Given the description of an element on the screen output the (x, y) to click on. 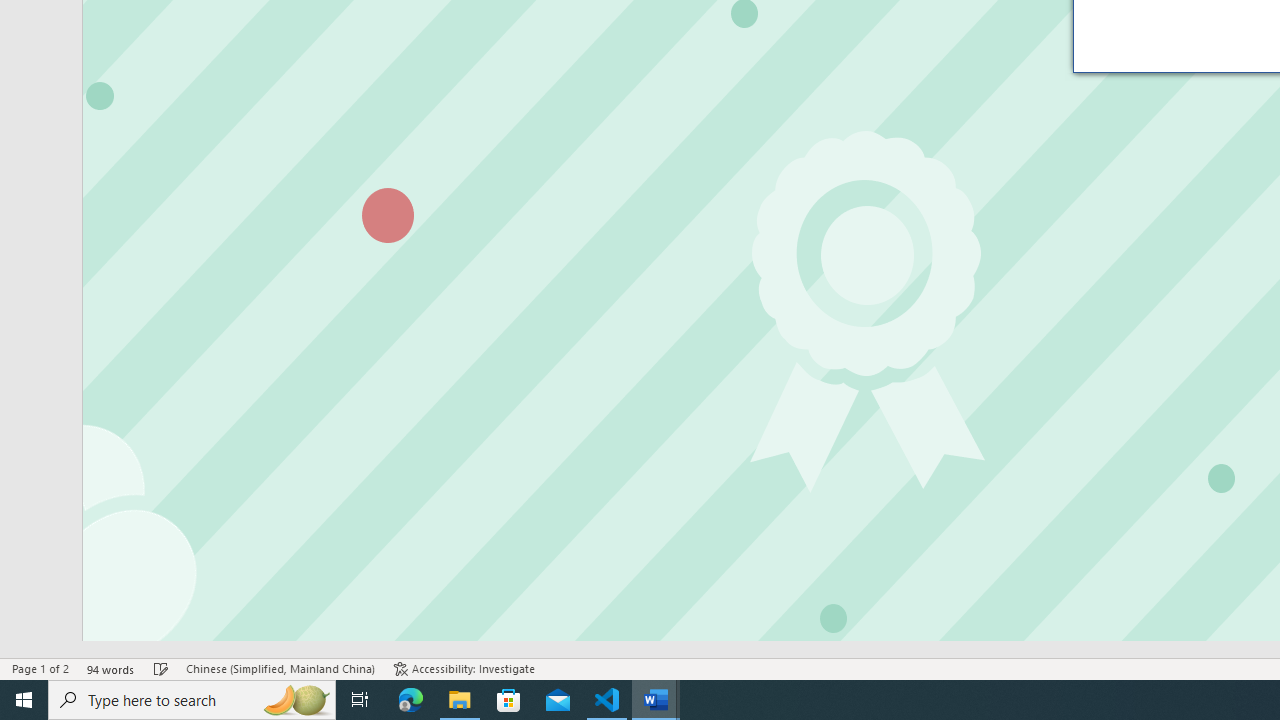
Word Count 94 words (111, 668)
Page Number Page 1 of 2 (39, 668)
Word - 2 running windows (656, 699)
